Given the description of an element on the screen output the (x, y) to click on. 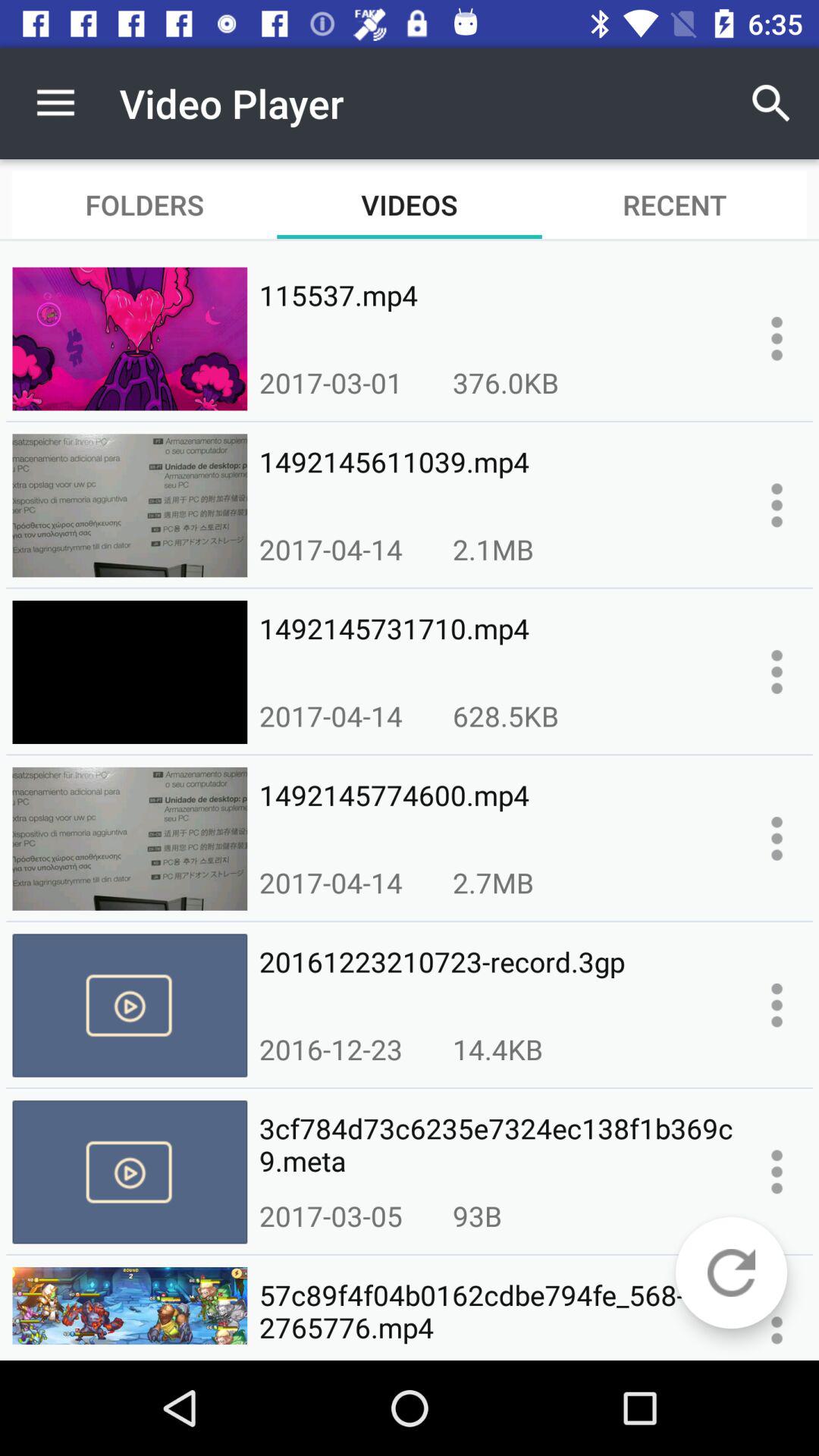
choose the item below 3cf784d73c6235e7324ec138f1b369c9.meta (731, 1272)
